Given the description of an element on the screen output the (x, y) to click on. 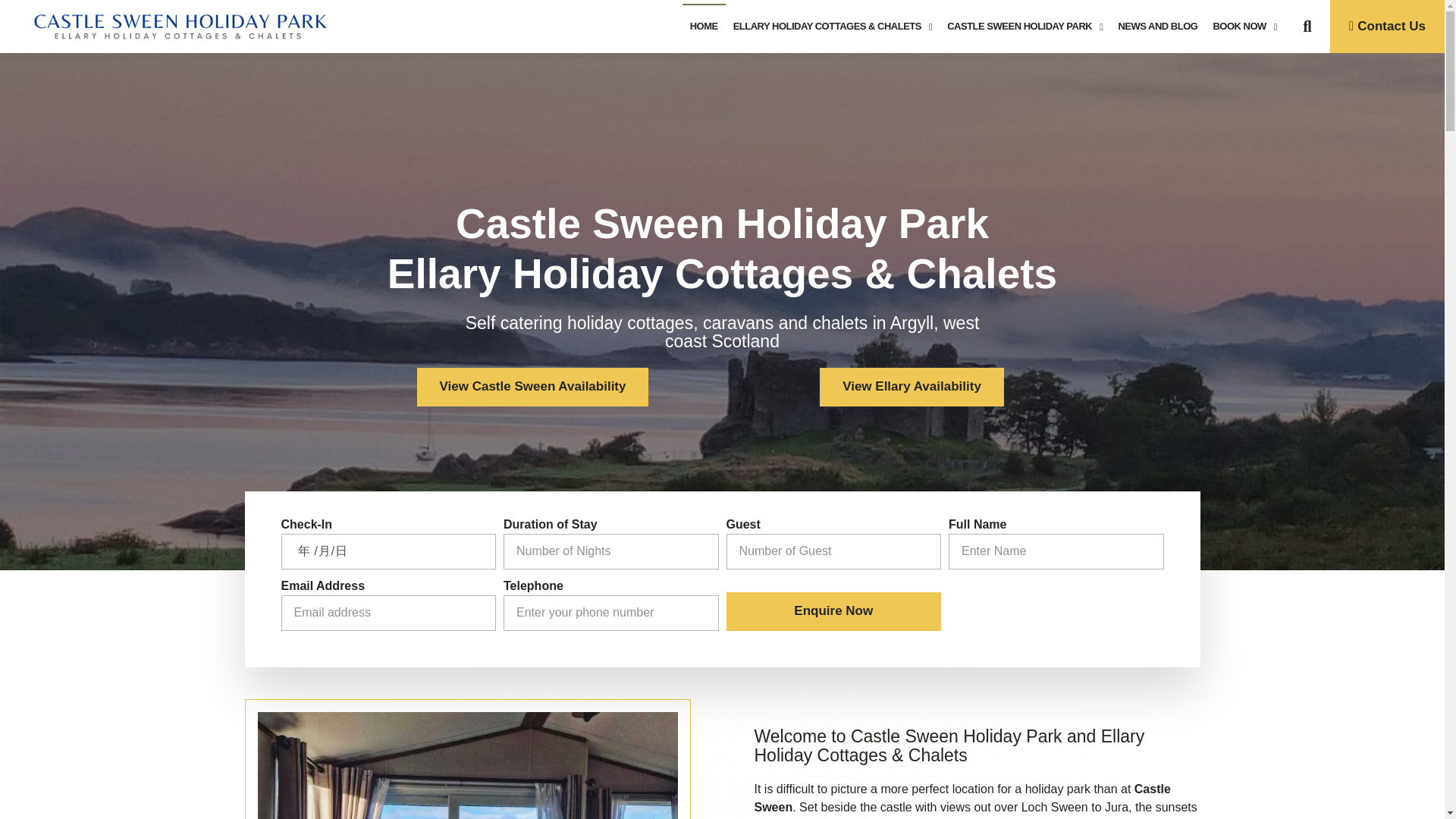
NEWS AND BLOG (1157, 26)
HOME (703, 26)
CASTLE SWEEN HOLIDAY PARK (1024, 26)
BOOK NOW (1244, 26)
